Given the description of an element on the screen output the (x, y) to click on. 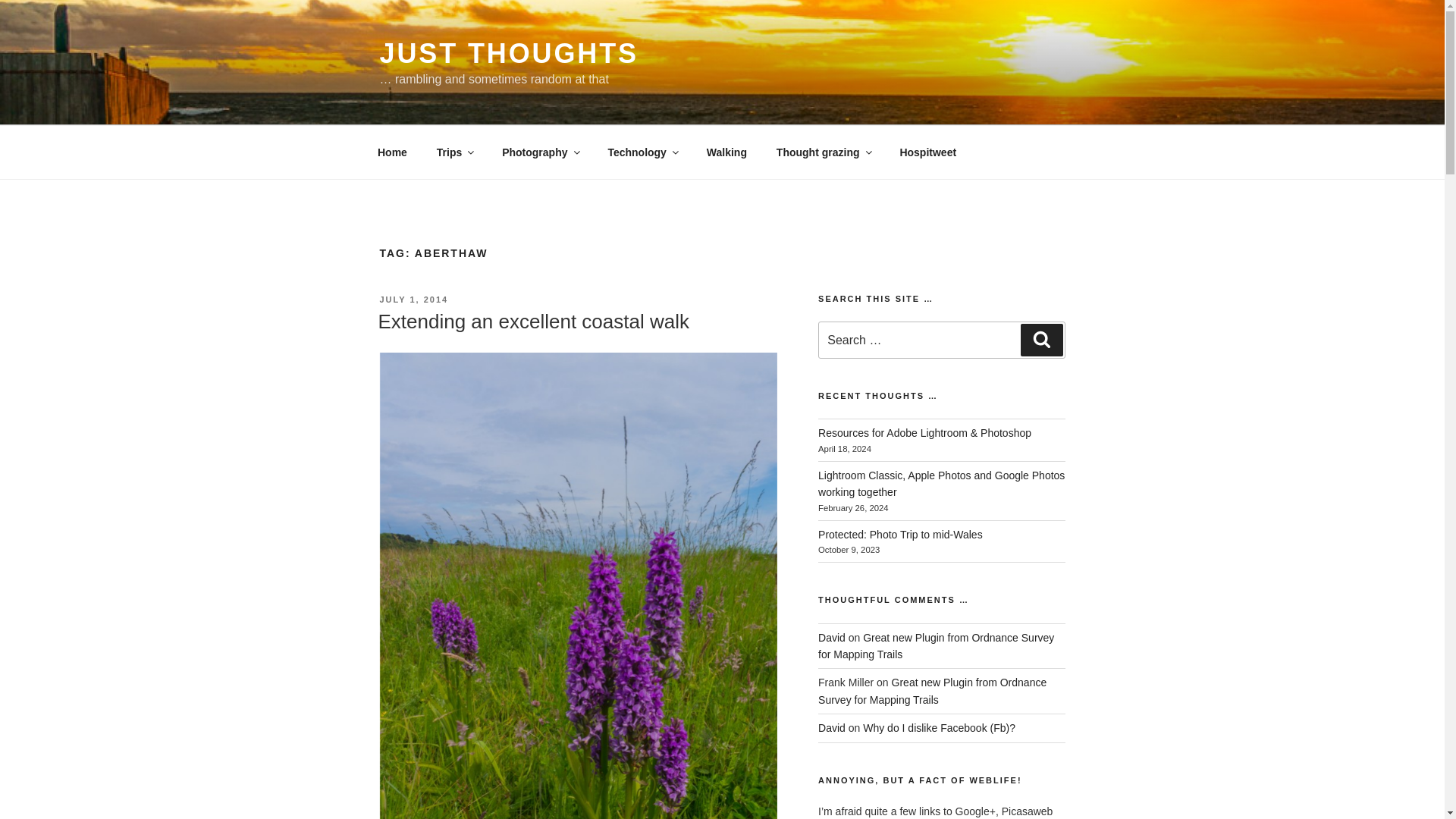
Hospitweet (927, 151)
Trips (453, 151)
JULY 1, 2014 (413, 298)
Extending an excellent coastal walk (532, 321)
Home (392, 151)
Walking (726, 151)
Thought grazing (822, 151)
JUST THOUGHTS (507, 52)
Photography (540, 151)
Technology (642, 151)
